Given the description of an element on the screen output the (x, y) to click on. 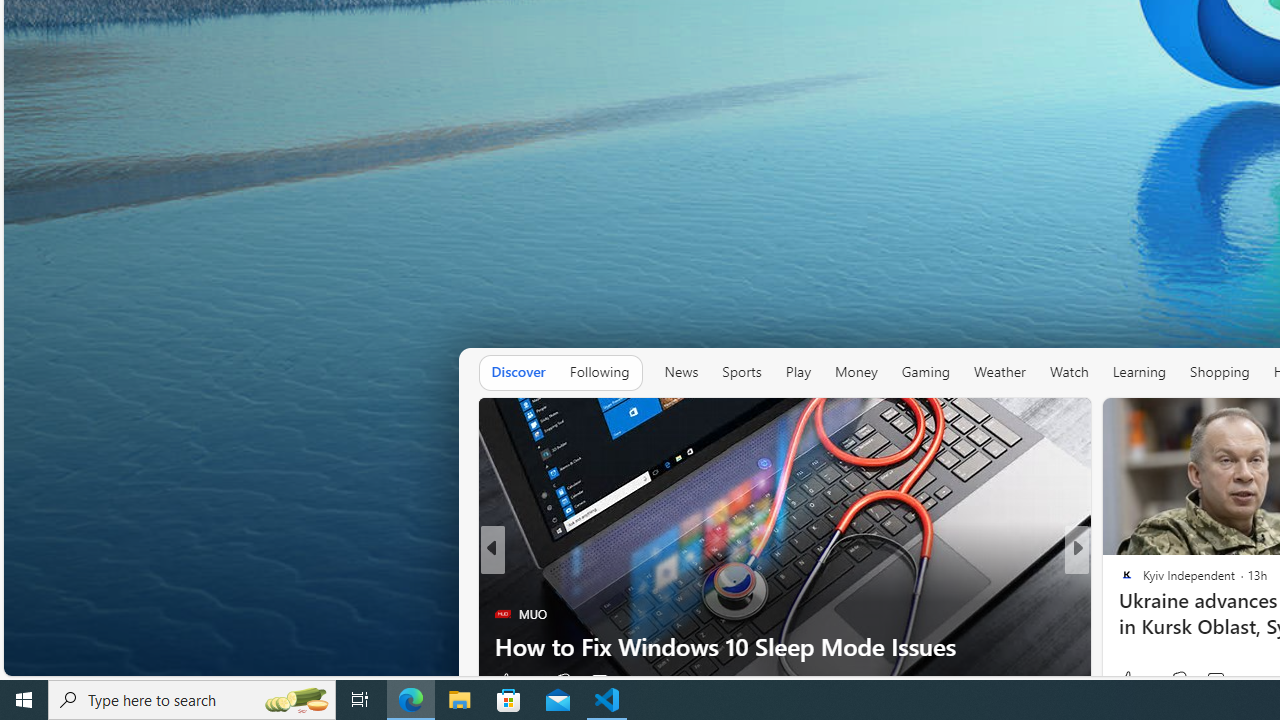
Savvy Dime (1117, 581)
Learning (1138, 371)
View comments 31 Comment (1215, 681)
Healthy Gem (1117, 614)
547 Like (1132, 681)
IGN (1117, 581)
596 Like (1132, 681)
View comments 89 Comment (1223, 681)
Steve Ronin (1117, 581)
CNN (1117, 581)
View comments 11 Comment (1223, 681)
Shopping (1219, 371)
View comments 1 Comment (1215, 679)
